Given the description of an element on the screen output the (x, y) to click on. 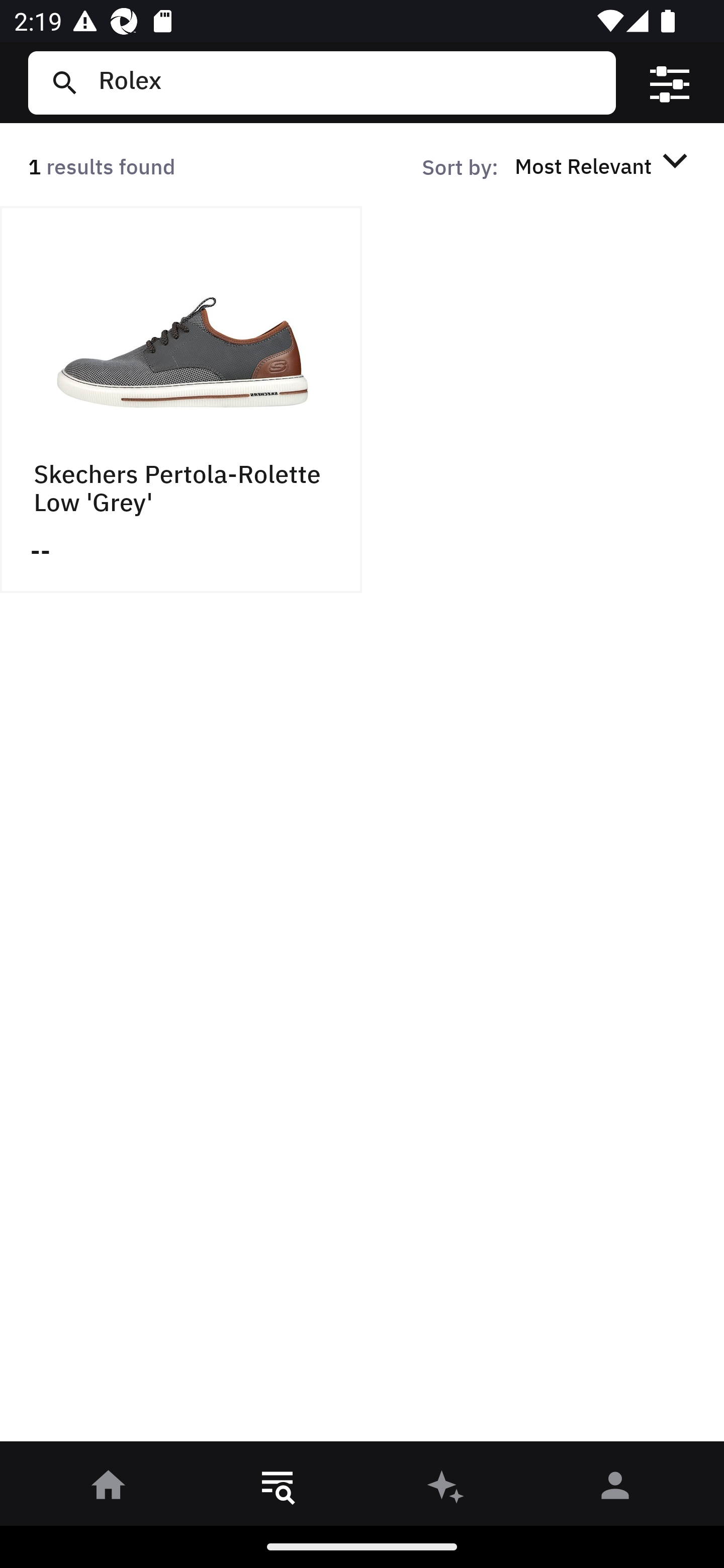
Rolex (349, 82)
 (669, 82)
Most Relevant  (604, 165)
Skechers Pertola-Rolette Low 'Grey' -- (181, 399)
󰋜 (108, 1488)
󱎸 (277, 1488)
󰫢 (446, 1488)
󰀄 (615, 1488)
